Given the description of an element on the screen output the (x, y) to click on. 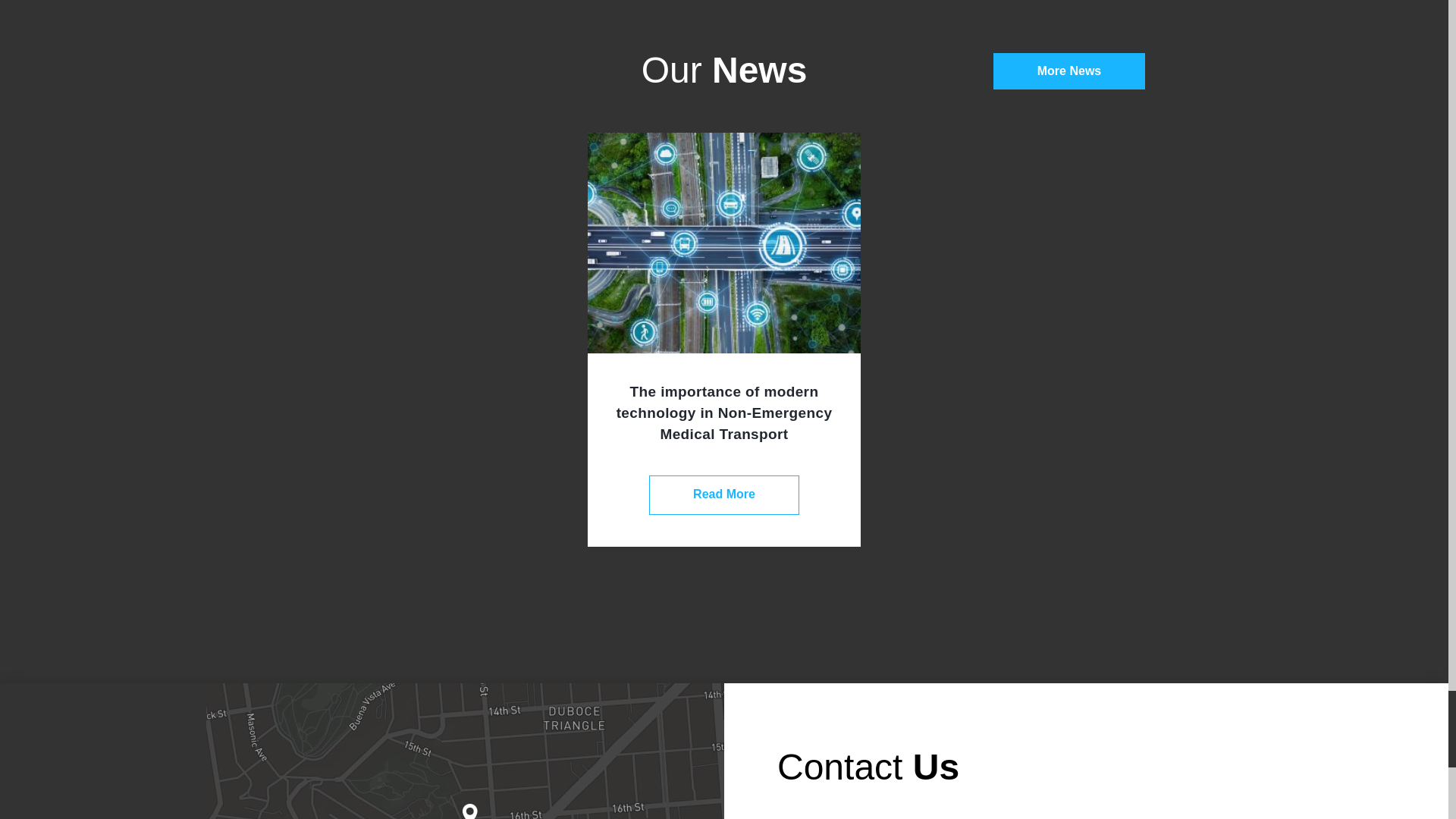
Read More (724, 495)
More News (1068, 71)
